Given the description of an element on the screen output the (x, y) to click on. 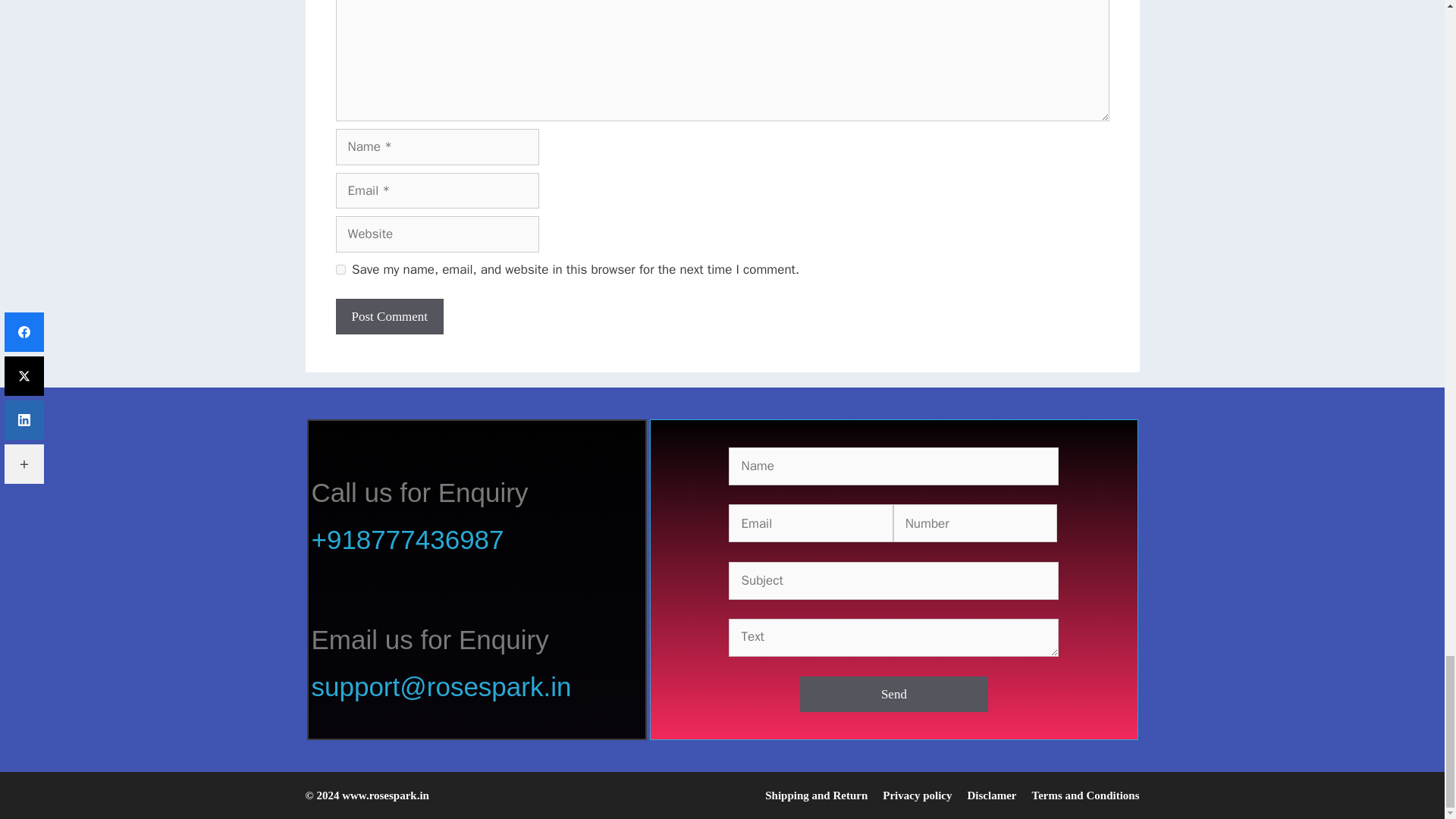
yes (339, 269)
Post Comment (389, 316)
Post Comment (389, 316)
Send (893, 694)
